Given the description of an element on the screen output the (x, y) to click on. 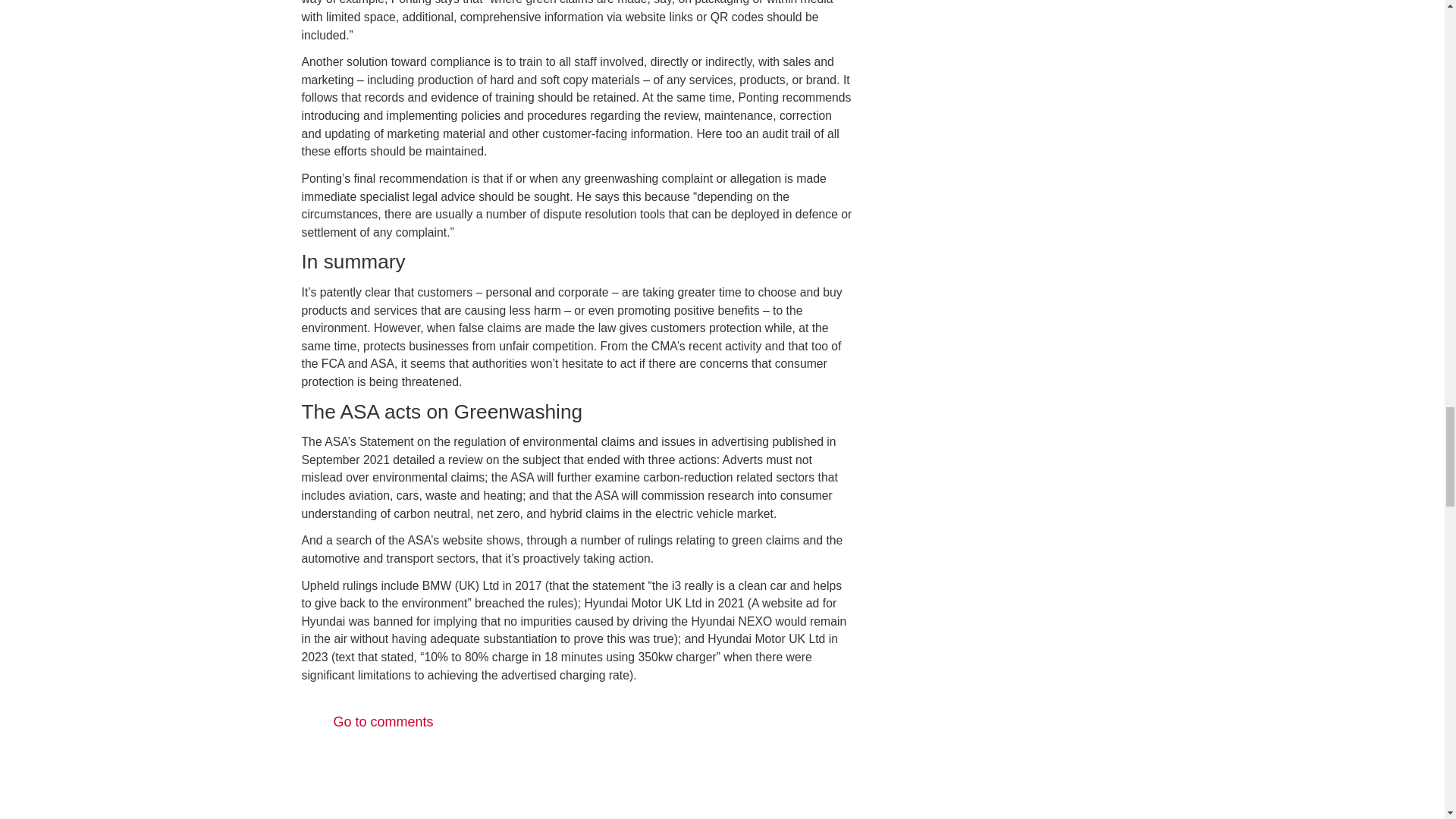
linke with comments (578, 722)
